Given the description of an element on the screen output the (x, y) to click on. 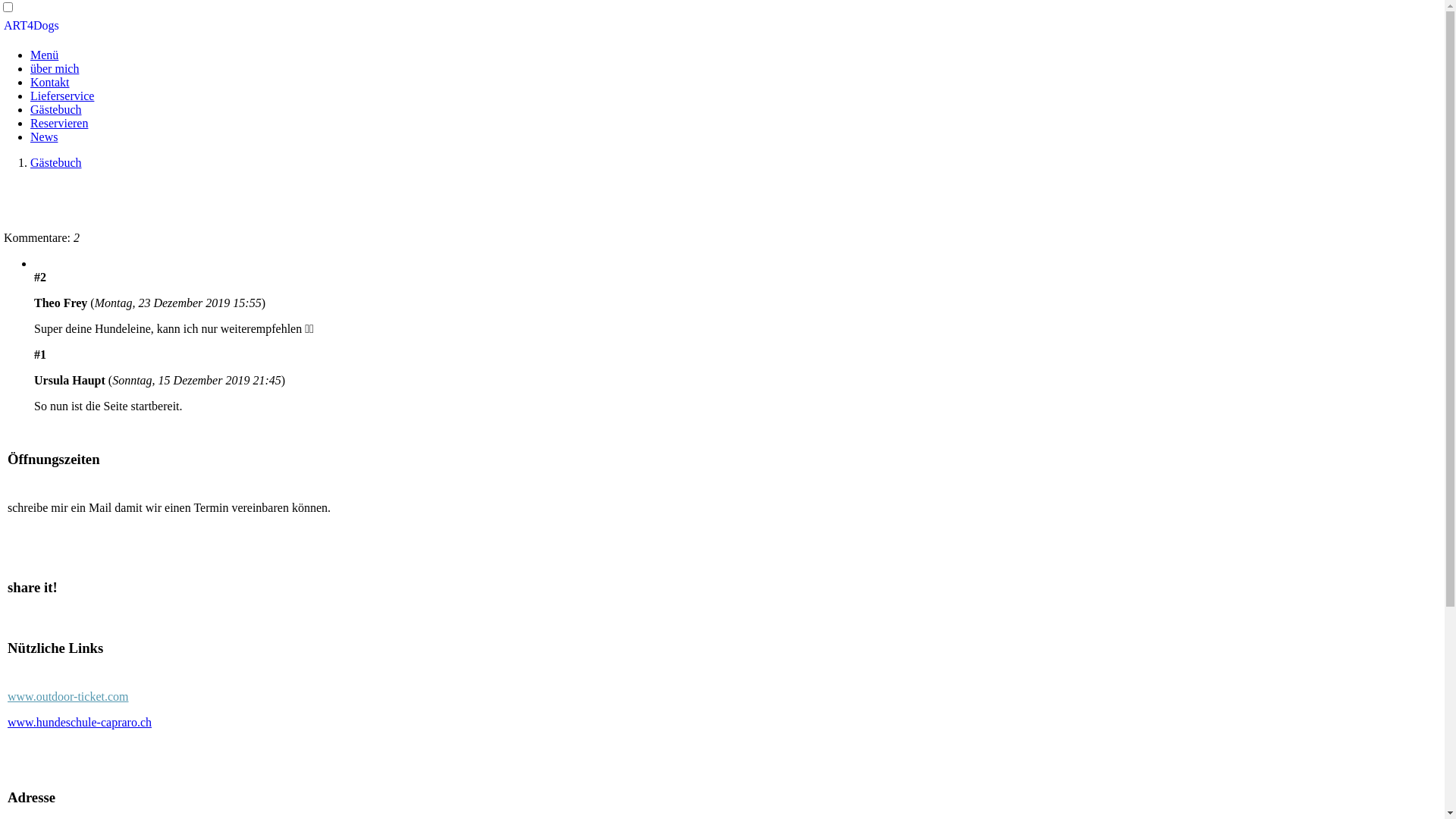
News Element type: text (43, 136)
Kontakt Element type: text (49, 81)
ART4Dogs Element type: text (31, 24)
Lieferservice Element type: text (62, 95)
www.hundeschule-capraro.ch Element type: text (79, 721)
Reservieren Element type: text (58, 122)
www.outdoor-ticket.com Element type: text (67, 696)
